Given the description of an element on the screen output the (x, y) to click on. 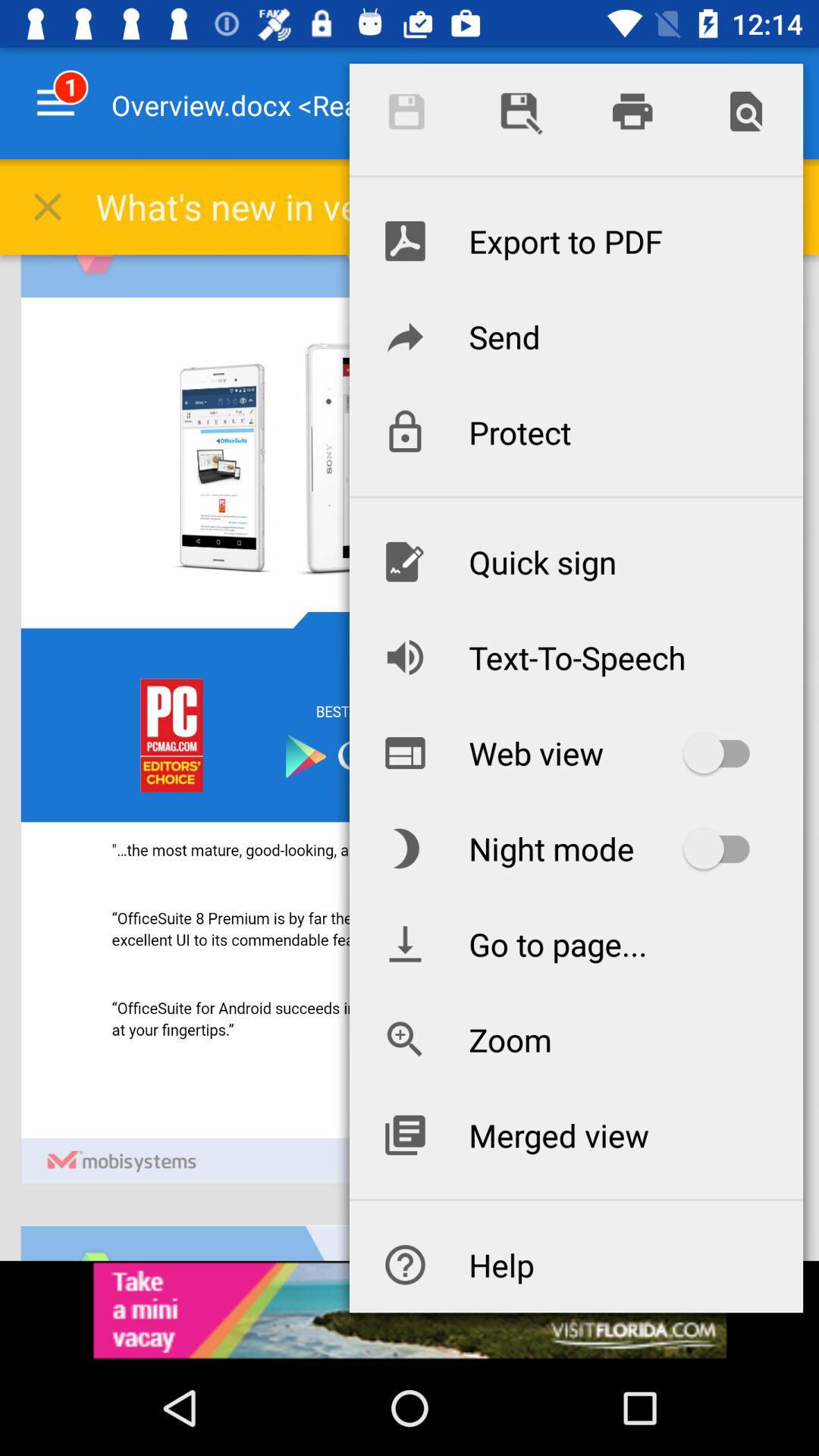
launch icon below export to pdf icon (576, 336)
